Given the description of an element on the screen output the (x, y) to click on. 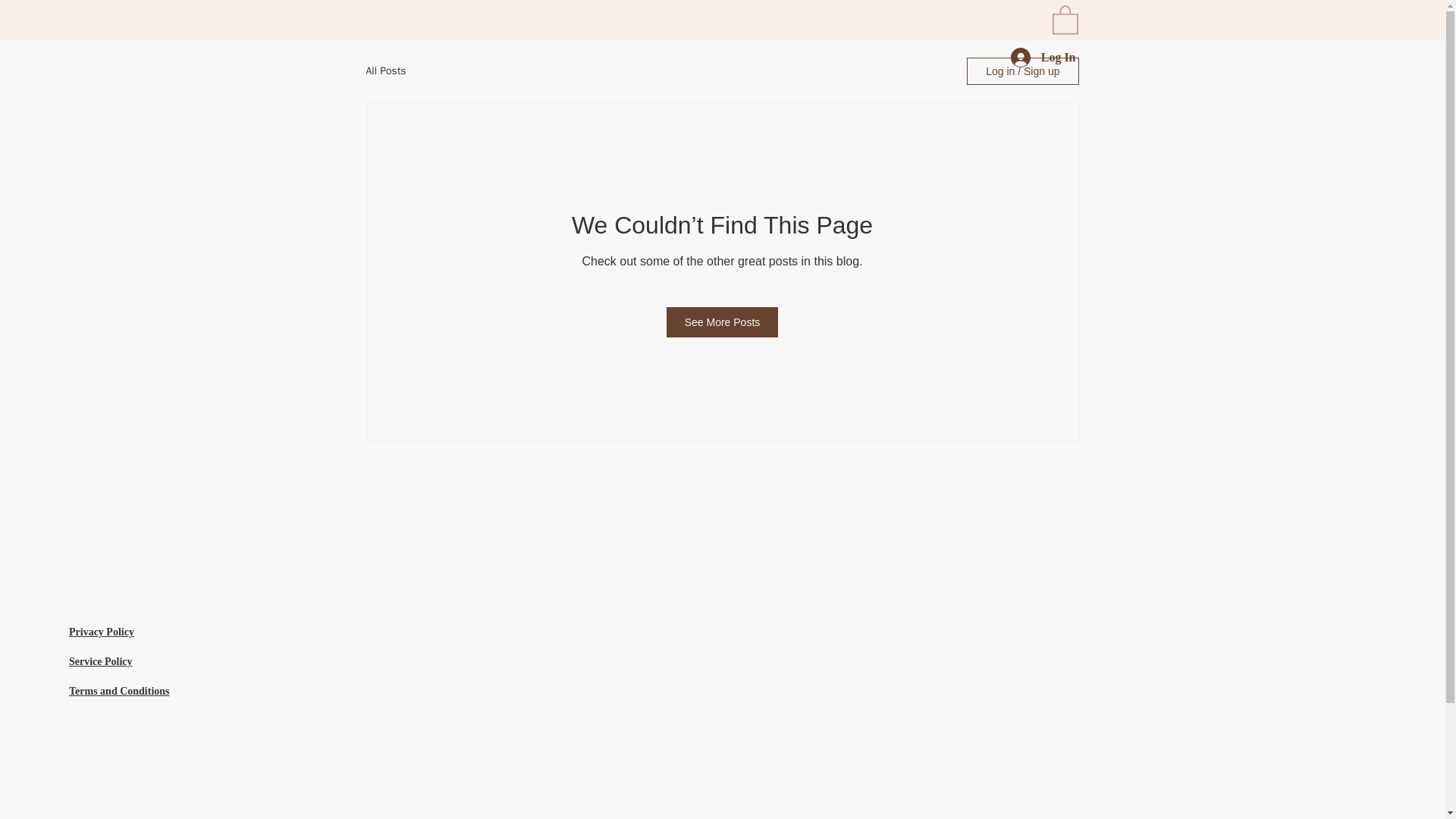
Terms and Conditions (119, 690)
Log In (1043, 57)
All Posts (385, 70)
Privacy Policy (100, 632)
See More Posts (722, 322)
Service Policy (100, 661)
